Given the description of an element on the screen output the (x, y) to click on. 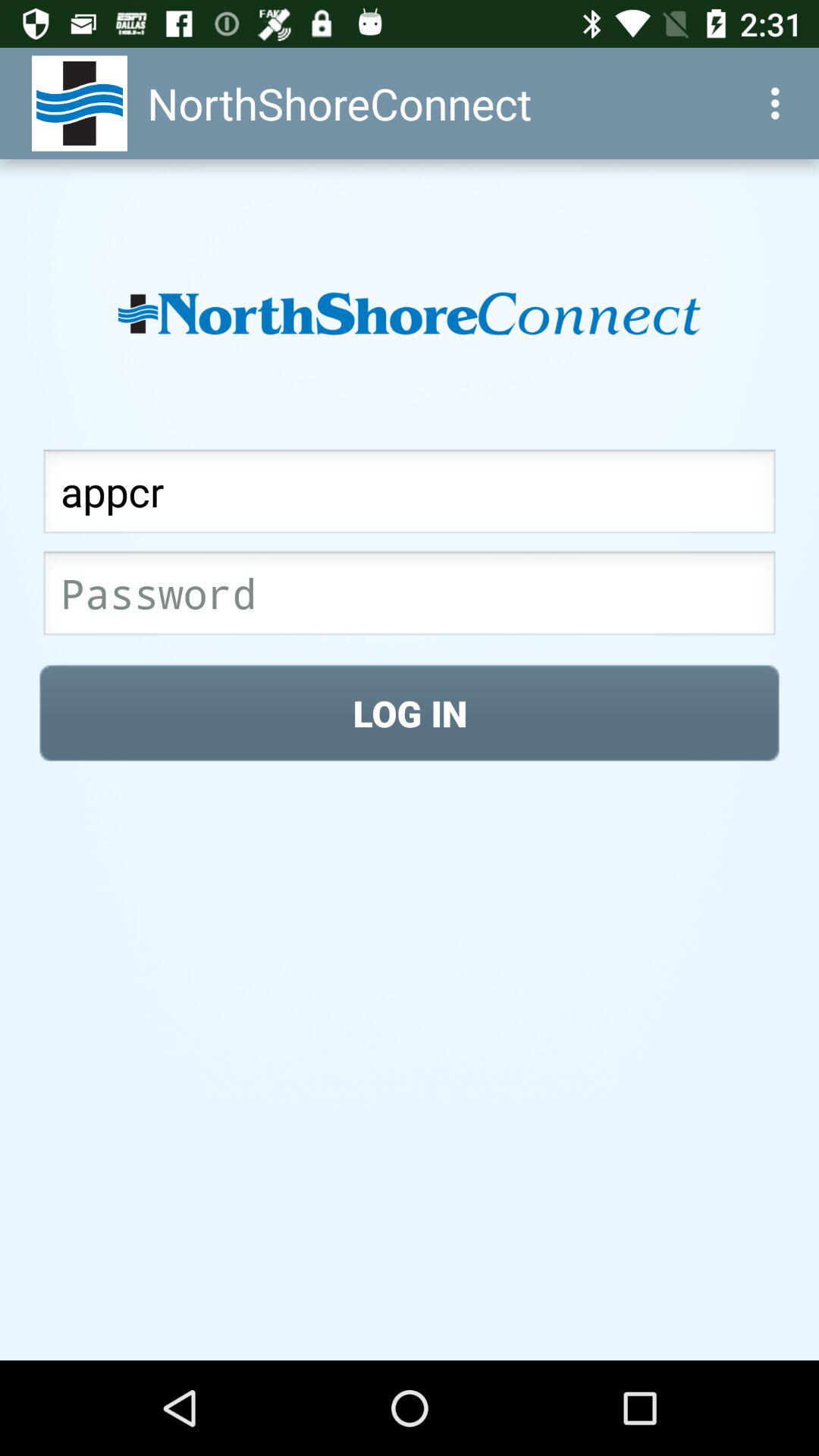
select the icon to the right of northshoreconnect icon (779, 103)
